Given the description of an element on the screen output the (x, y) to click on. 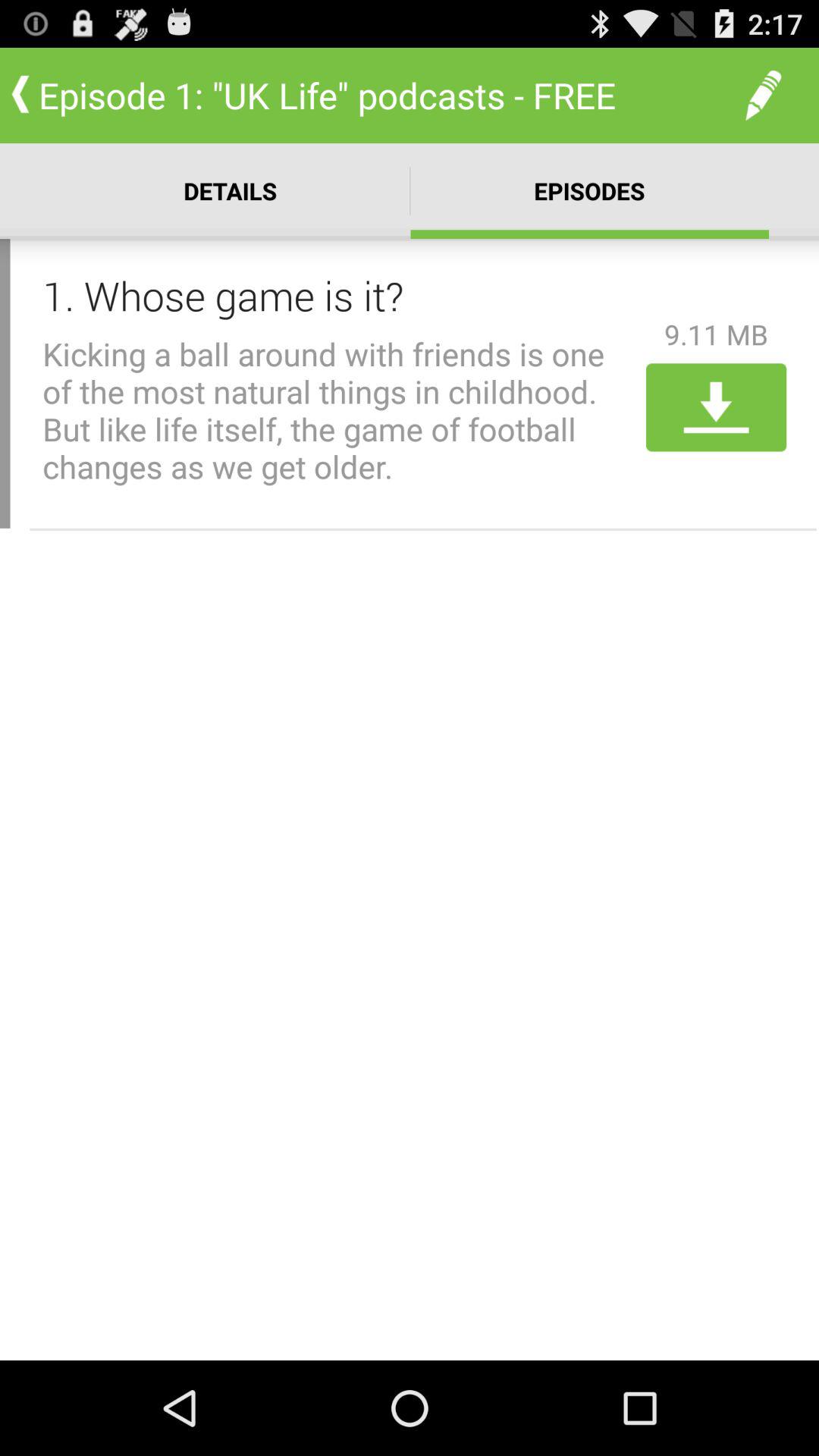
flip until kicking a ball icon (338, 409)
